Given the description of an element on the screen output the (x, y) to click on. 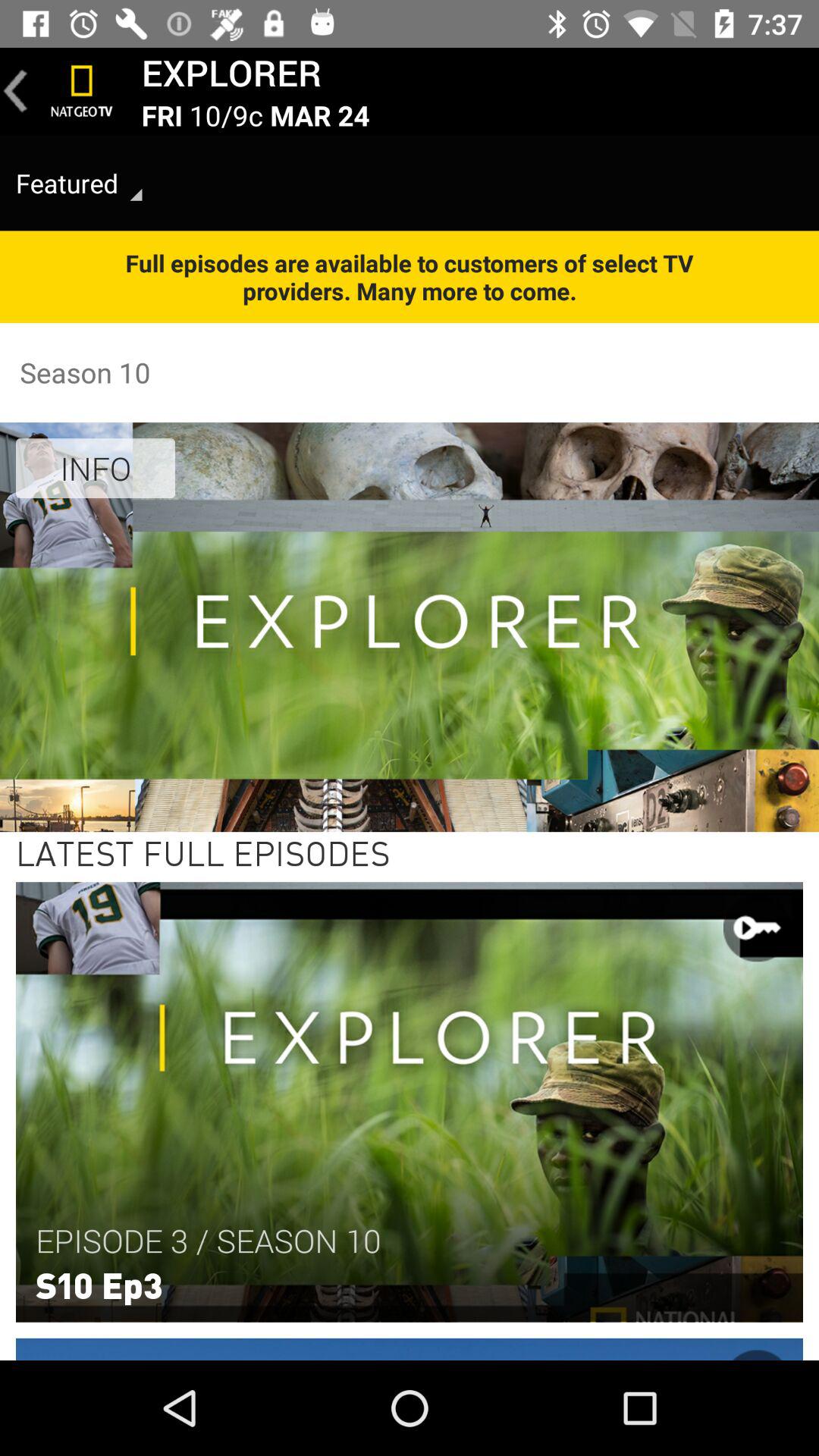
go back (15, 90)
